Given the description of an element on the screen output the (x, y) to click on. 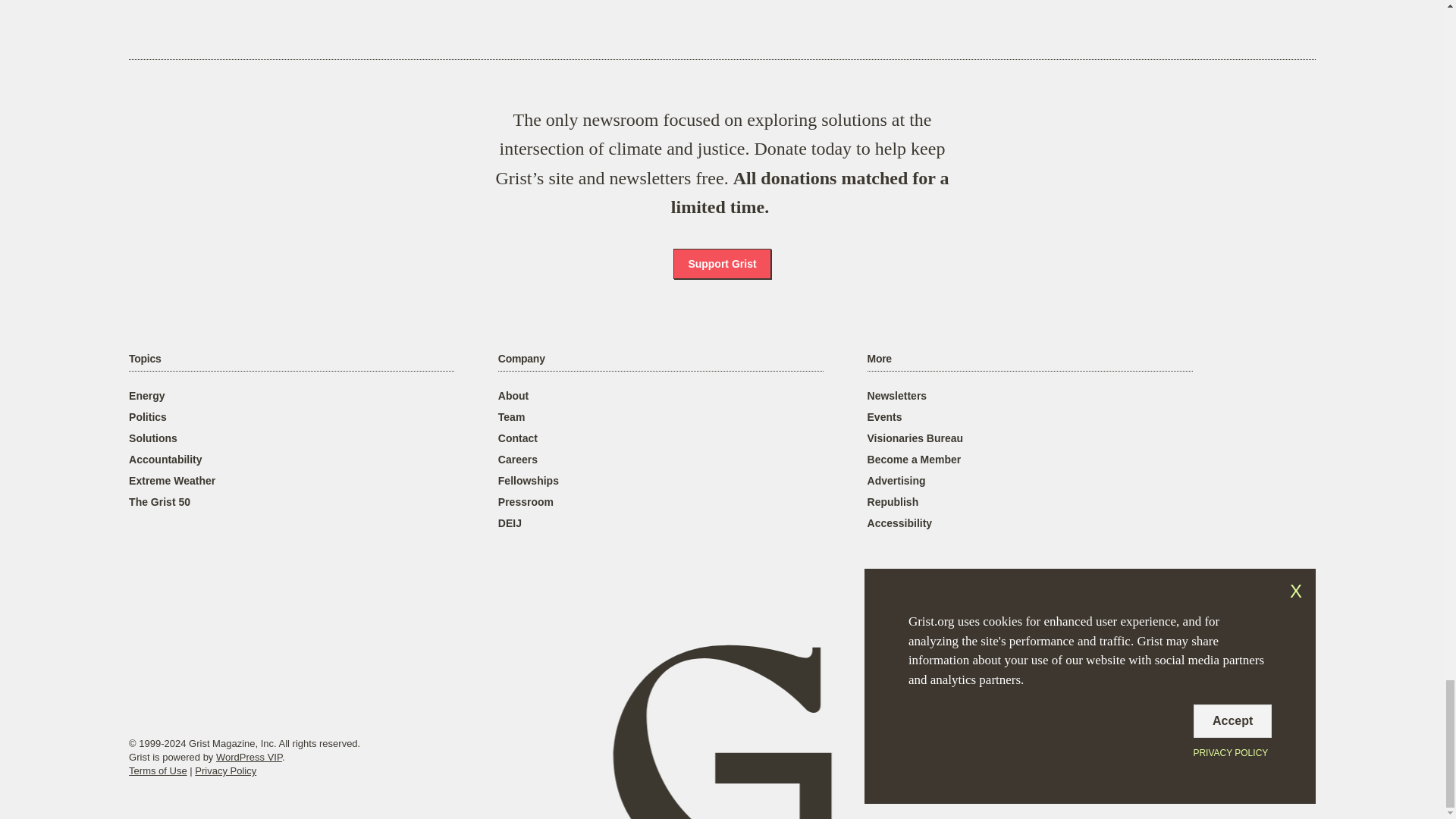
Topics (144, 358)
Company (520, 358)
More (879, 358)
